Given the description of an element on the screen output the (x, y) to click on. 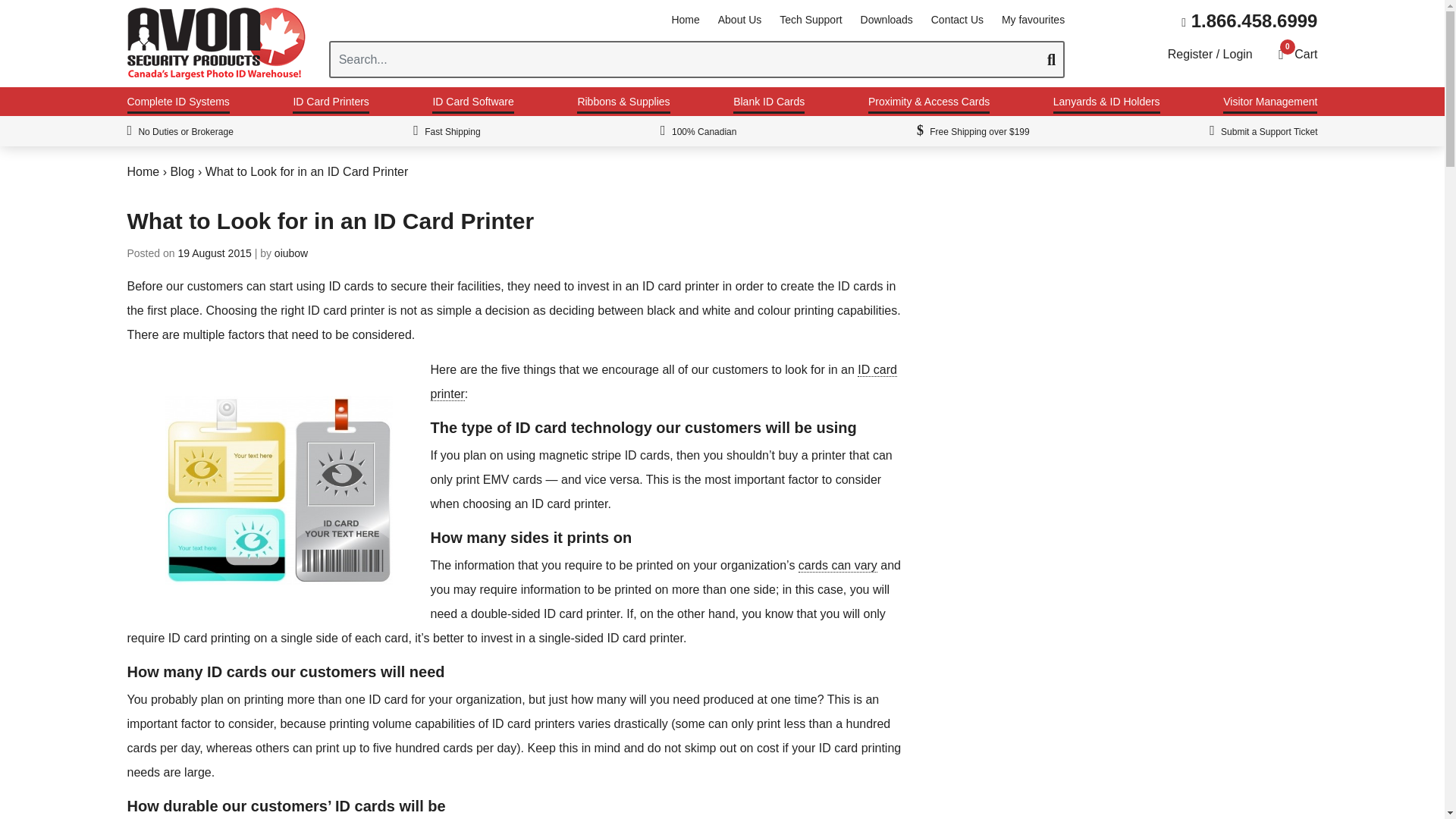
1.866.458.6999 (1248, 20)
Blank ID Cards (769, 104)
Downloads (886, 19)
ID Card Printers (330, 104)
Complete ID Systems (179, 104)
Contact Us (957, 19)
Cart (1305, 53)
Tech Support (810, 19)
Home (684, 19)
ID Card Software (472, 104)
